Given the description of an element on the screen output the (x, y) to click on. 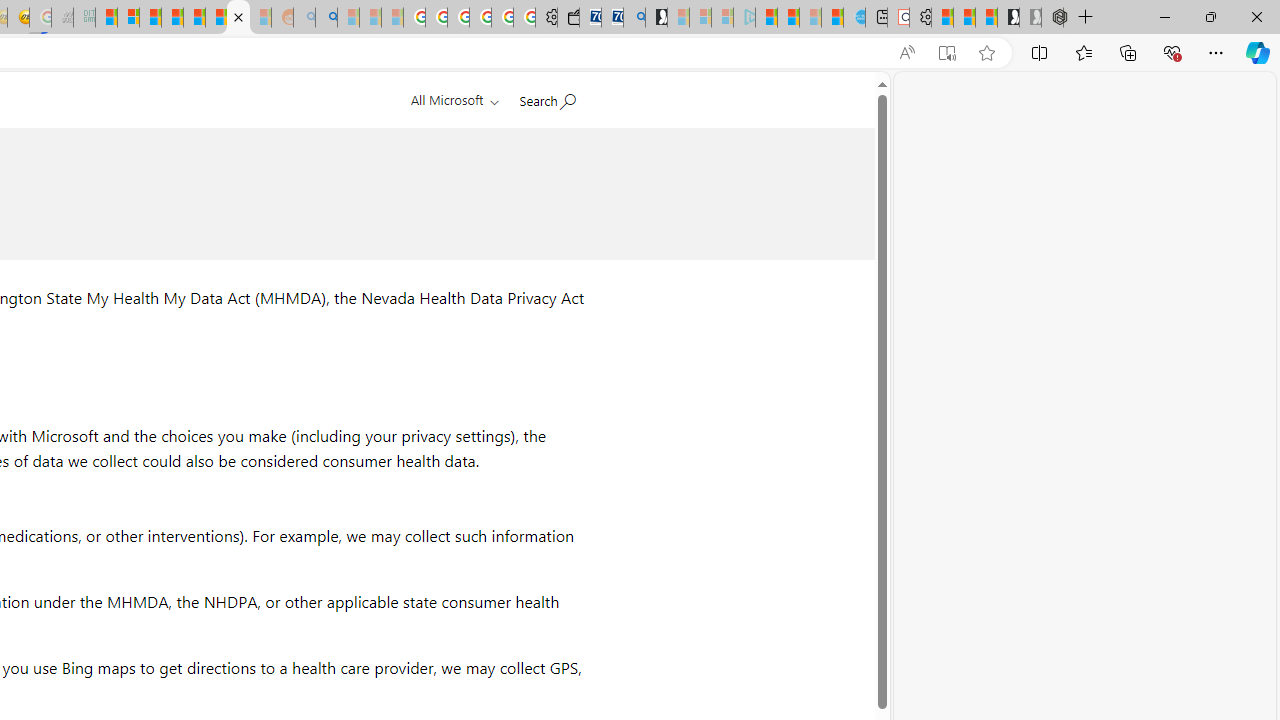
Utah sues federal government - Search (326, 17)
Bing Real Estate - Home sales and rental listings (634, 17)
Wallet (568, 17)
Cheap Car Rentals - Save70.com (612, 17)
Consumer Health Data Privacy Policy (238, 17)
